Given the description of an element on the screen output the (x, y) to click on. 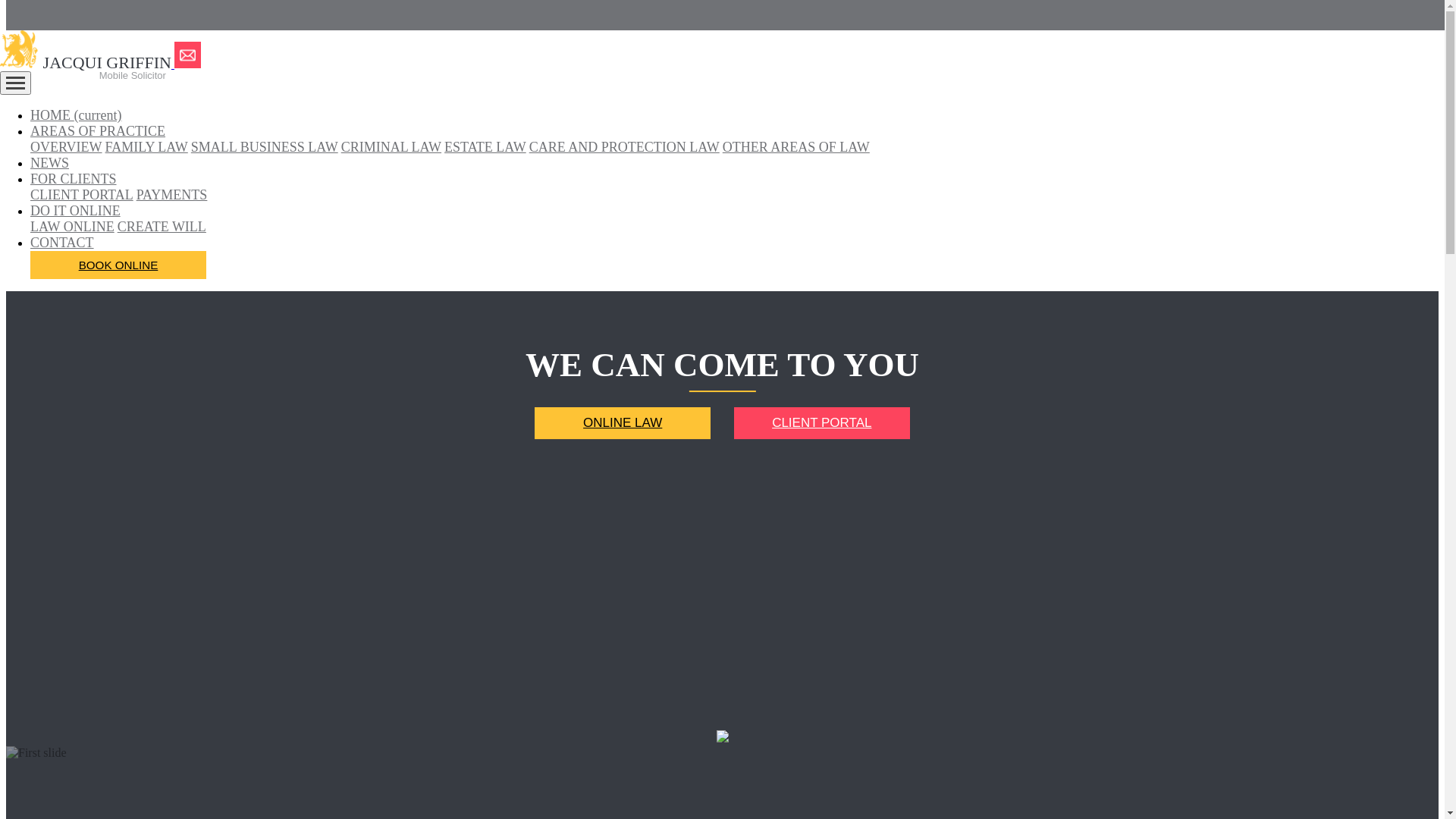
FOR CLIENTS Element type: text (73, 178)
Previous Element type: text (60, 752)
CREATE WILL Element type: text (161, 226)
ESTATE LAW Element type: text (485, 146)
Next Element type: text (158, 752)
DO IT ONLINE Element type: text (75, 210)
NEWS Element type: text (49, 162)
OVERVIEW Element type: text (66, 146)
CARE AND PROTECTION LAW Element type: text (624, 146)
HOME (current) Element type: text (75, 114)
FAMILY LAW Element type: text (146, 146)
LAW ONLINE Element type: text (72, 226)
ONLINE LAW Element type: text (622, 423)
SMALL BUSINESS LAW Element type: text (264, 146)
BOOK ONLINE Element type: text (118, 265)
CLIENT PORTAL Element type: text (81, 194)
OTHER AREAS OF LAW Element type: text (795, 146)
PAYMENTS Element type: text (171, 194)
CONTACT Element type: text (62, 242)
CLIENT PORTAL Element type: text (822, 423)
CRIMINAL LAW Element type: text (391, 146)
JACQUI GRIFFIN
Mobile Solicitor Element type: text (87, 62)
AREAS OF PRACTICE Element type: text (97, 130)
